Given the description of an element on the screen output the (x, y) to click on. 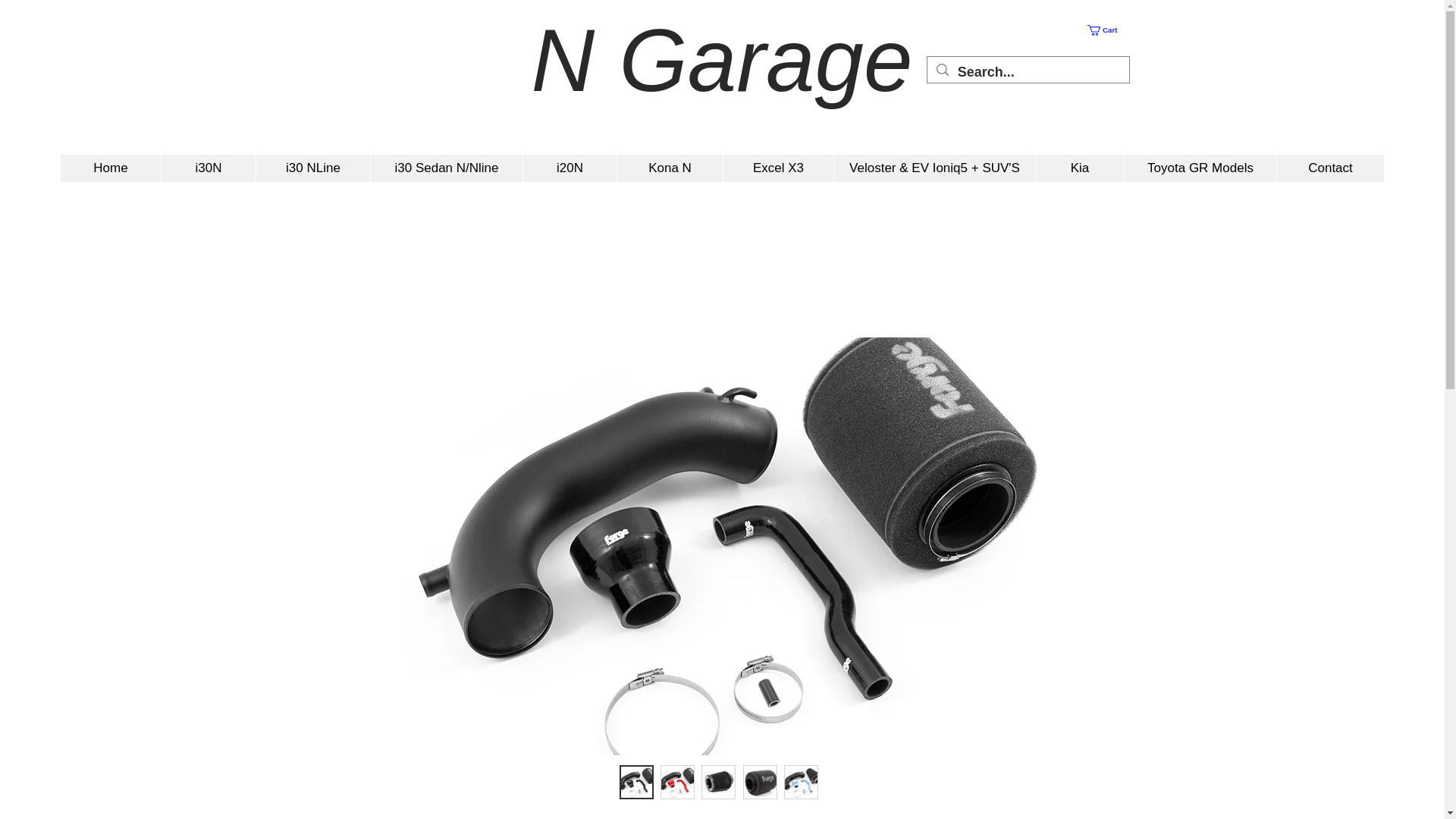
i20N (568, 167)
i30 NLine (312, 167)
i30N (208, 167)
Cart (1108, 30)
Home (110, 167)
Toyota GR Models (1200, 167)
Kona N (668, 167)
Cart (1108, 30)
Contact (1330, 167)
Excel X3 (777, 167)
